Given the description of an element on the screen output the (x, y) to click on. 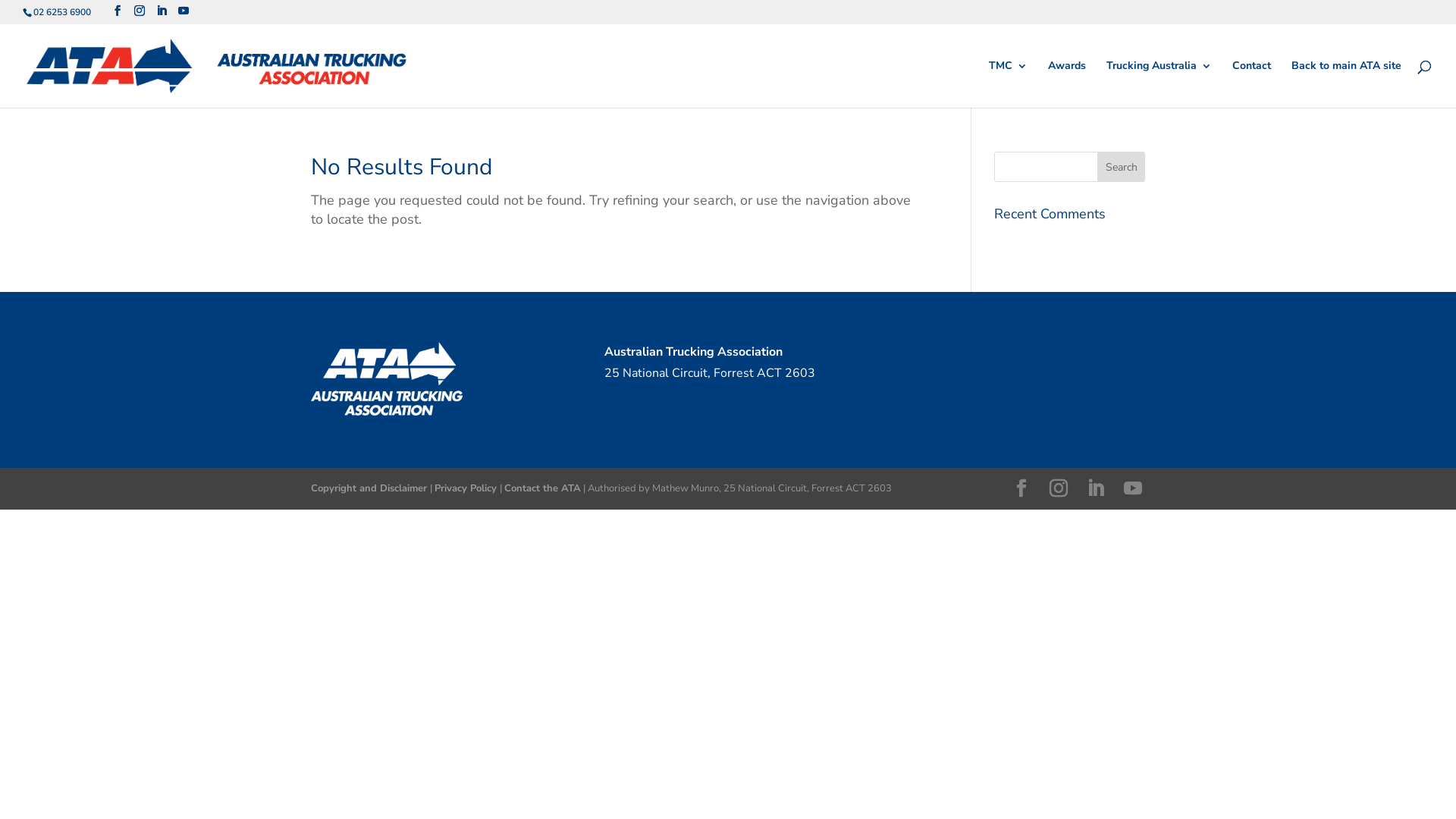
Contact Element type: text (1251, 83)
Search Element type: text (1121, 166)
Contact the ATA Element type: text (541, 488)
TMC Element type: text (1007, 83)
Copyright and Disclaimer Element type: text (369, 488)
Trucking Australia Element type: text (1158, 83)
Privacy Policy Element type: text (465, 488)
Back to main ATA site Element type: text (1346, 83)
Awards Element type: text (1066, 83)
